Given the description of an element on the screen output the (x, y) to click on. 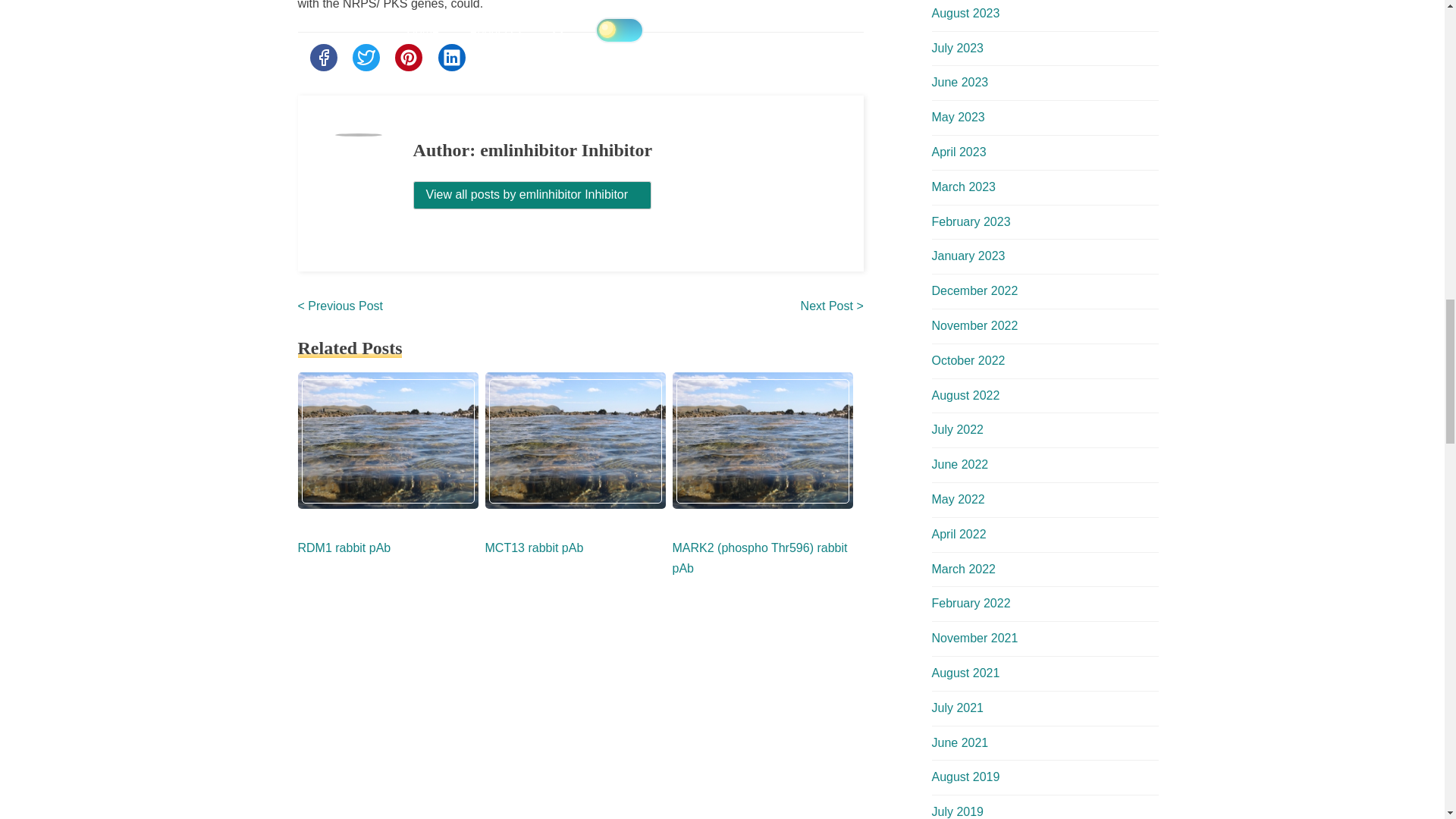
RDM1 rabbit pAb (343, 547)
Share this post on Facebook (322, 57)
Share this post on Linkedin (451, 57)
Share this post on Twitter (366, 57)
MCT13 rabbit pAb (533, 547)
View all posts by emlinhibitor Inhibitor (531, 194)
View all posts by emlinhibitor Inhibitor (532, 194)
Share this post on Pinterest (408, 57)
